Given the description of an element on the screen output the (x, y) to click on. 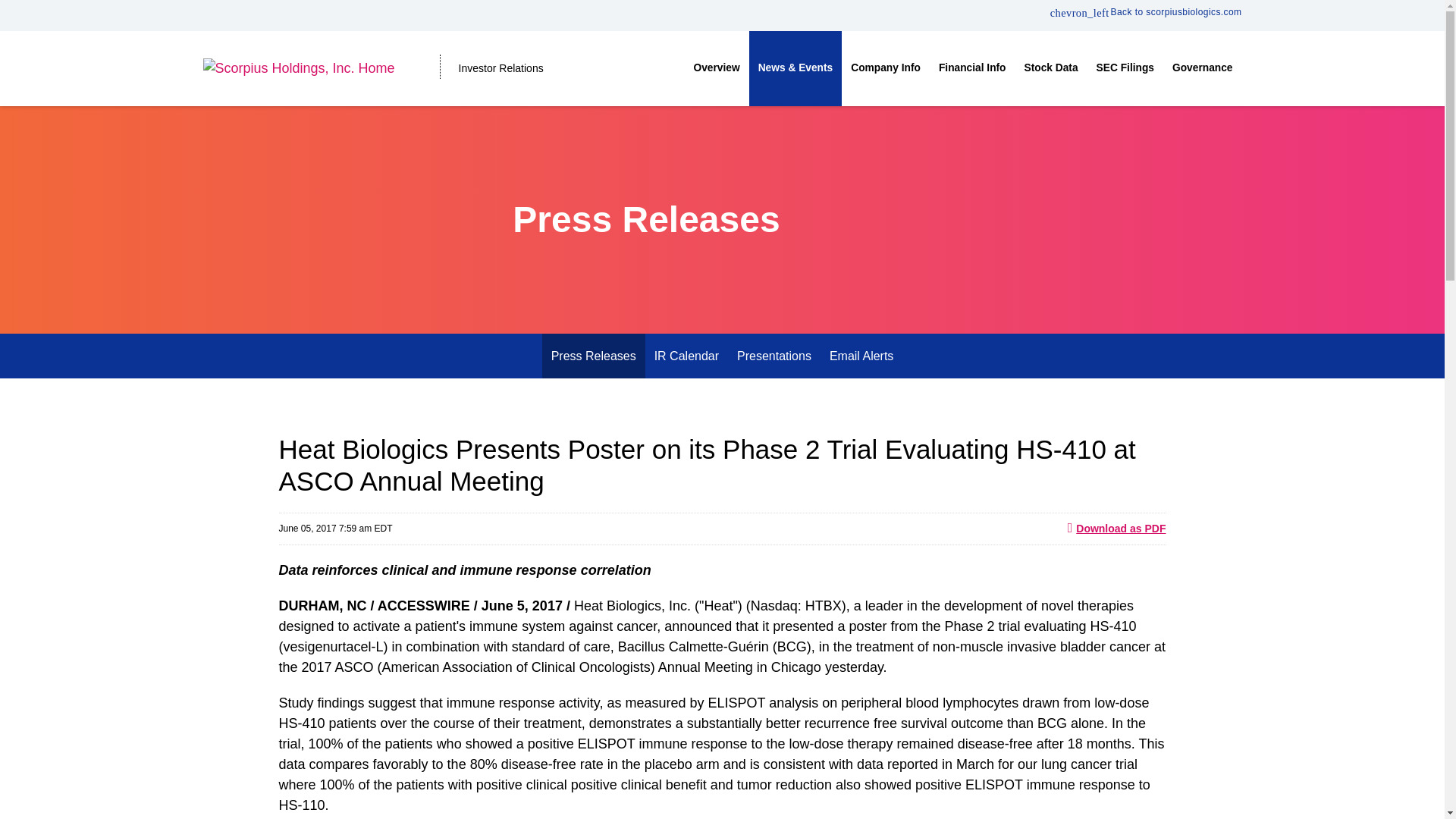
IR Calendar (686, 355)
Back to scorpiusbiologics.com (1145, 10)
Press Releases (593, 355)
SEC Filings (1125, 68)
Governance (1202, 68)
Stock Data (1050, 68)
Presentations (774, 355)
Company Info (885, 68)
Financial Info (972, 68)
